Given the description of an element on the screen output the (x, y) to click on. 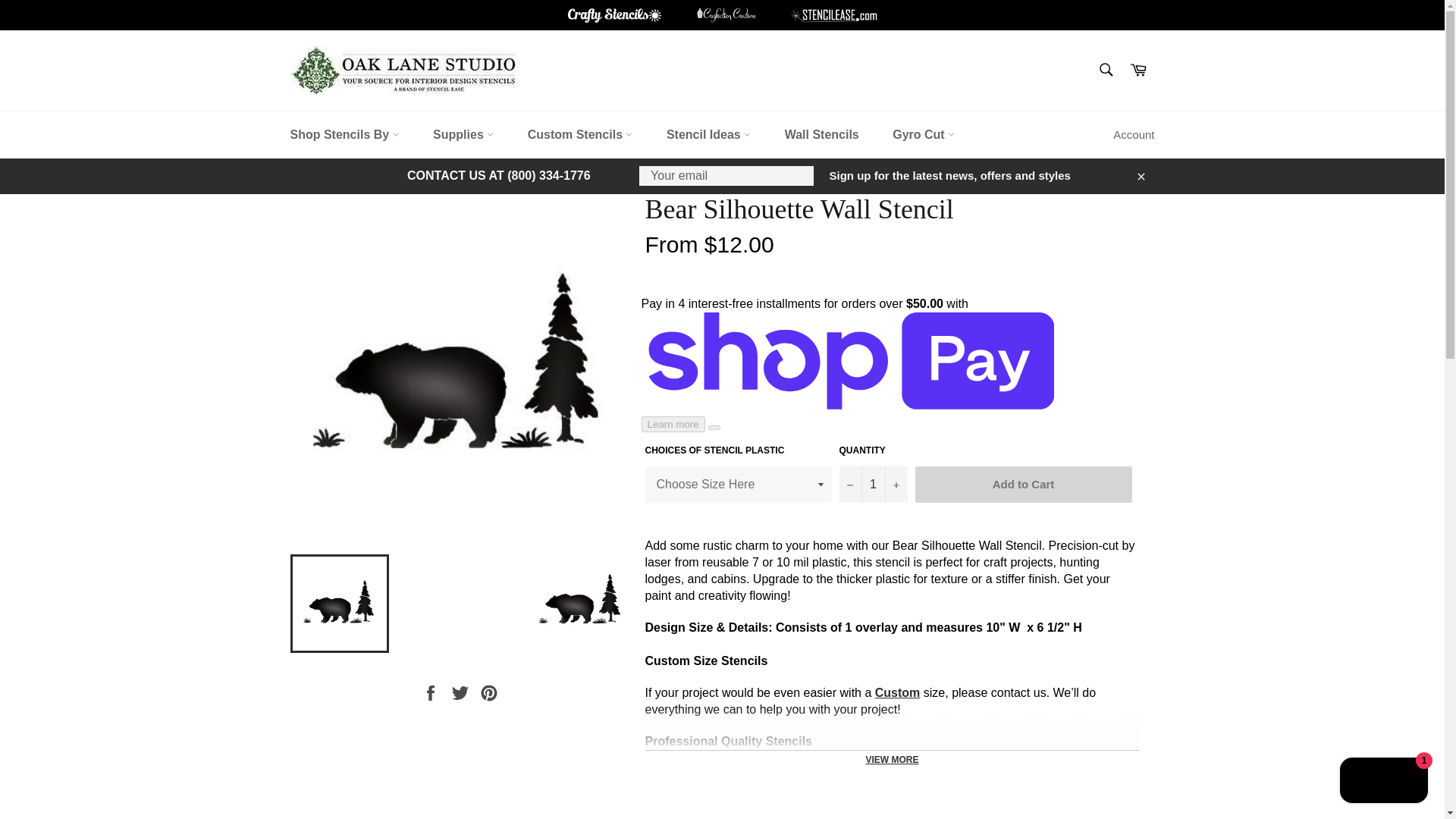
Shop Stencils By (344, 134)
1 (872, 484)
